Given the description of an element on the screen output the (x, y) to click on. 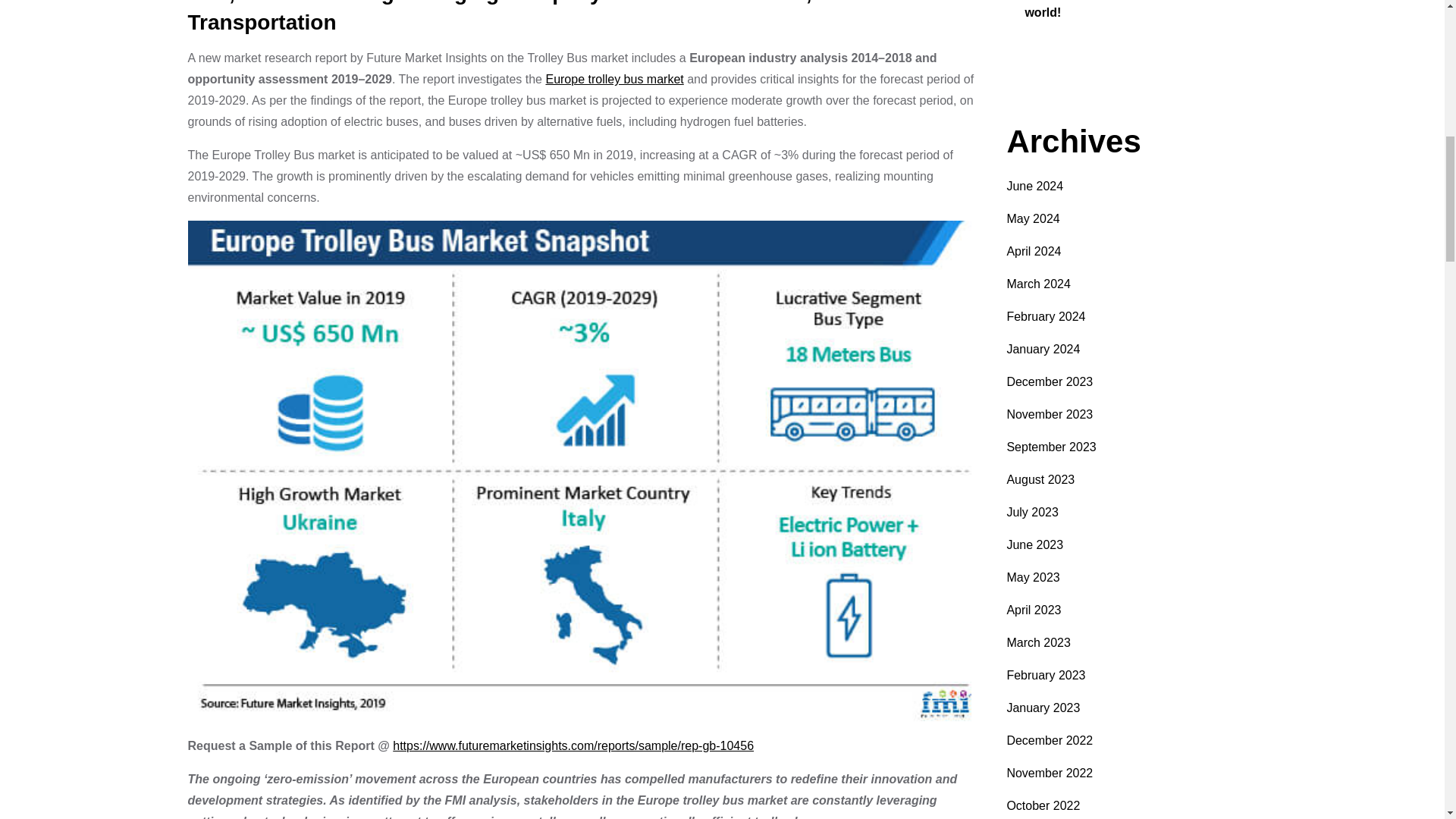
August 2023 (1040, 479)
June 2024 (1034, 185)
Europe trolley bus market (613, 78)
May 2024 (1032, 218)
June 2023 (1034, 544)
April 2024 (1033, 250)
Hello world! (1123, 9)
April 2023 (1033, 609)
July 2023 (1032, 512)
November 2023 (1049, 413)
March 2023 (1038, 642)
February 2023 (1045, 675)
September 2023 (1051, 446)
January 2024 (1043, 349)
